Given the description of an element on the screen output the (x, y) to click on. 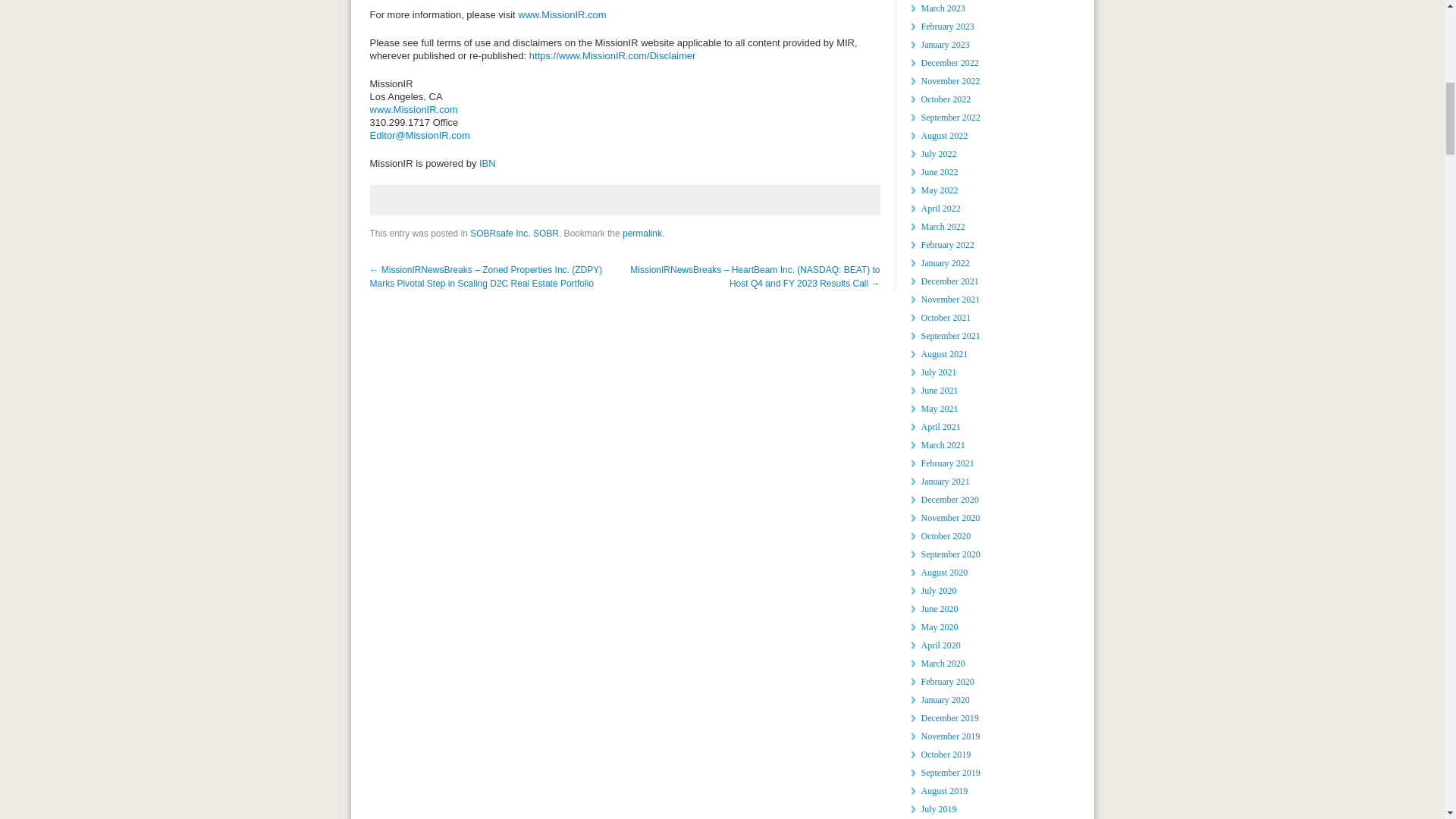
IBN (487, 163)
www.MissionIR.com (561, 14)
www.MissionIR.com (413, 109)
permalink (642, 233)
SOBRsafe Inc. SOBR (514, 233)
